Given the description of an element on the screen output the (x, y) to click on. 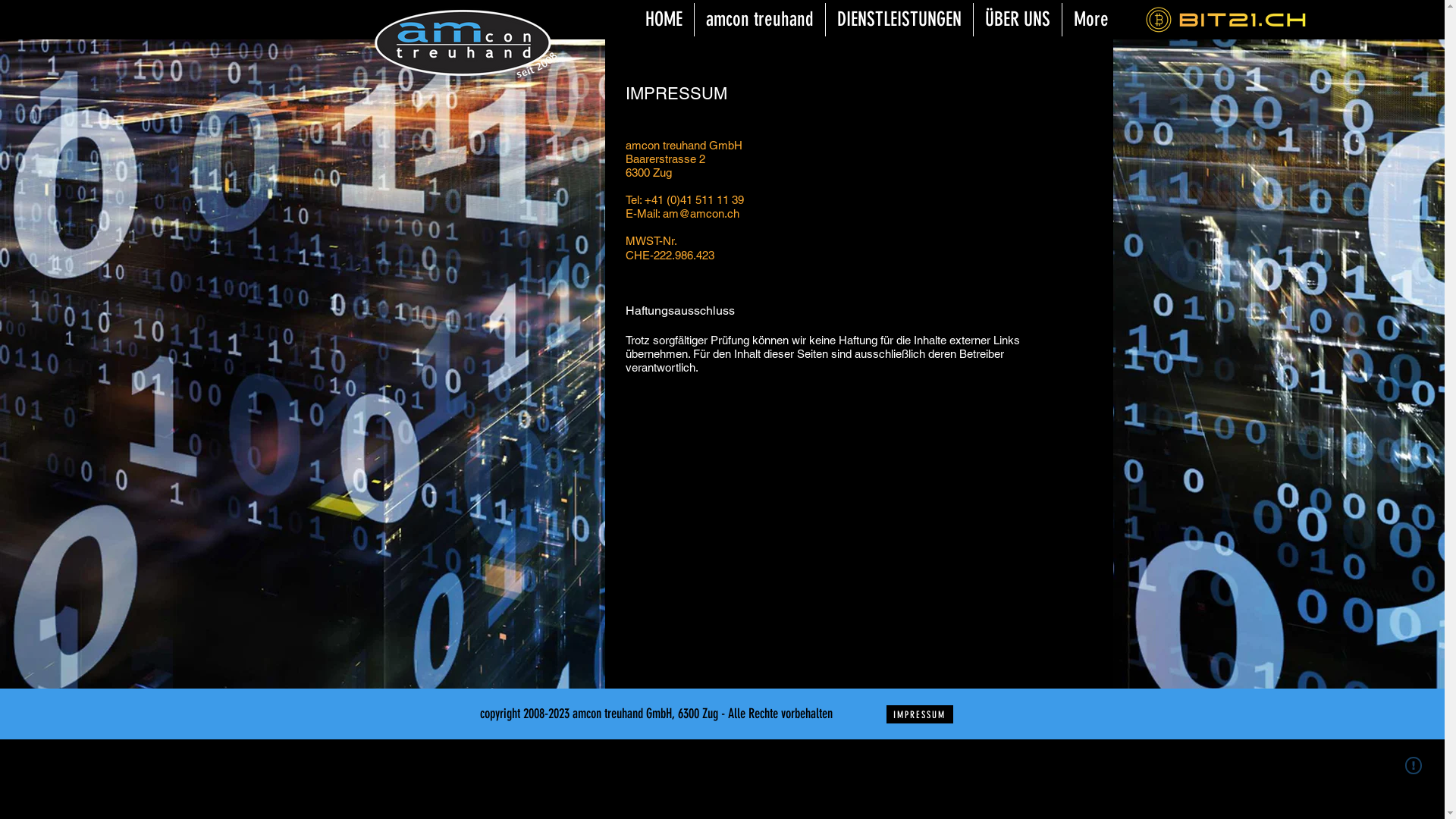
IMPRESSUM Element type: text (918, 714)
HOME Element type: text (663, 19)
DIENSTLEISTUNGEN Element type: text (898, 19)
amcon treuhand Element type: text (759, 19)
am@amcon.ch Element type: text (700, 213)
